Given the description of an element on the screen output the (x, y) to click on. 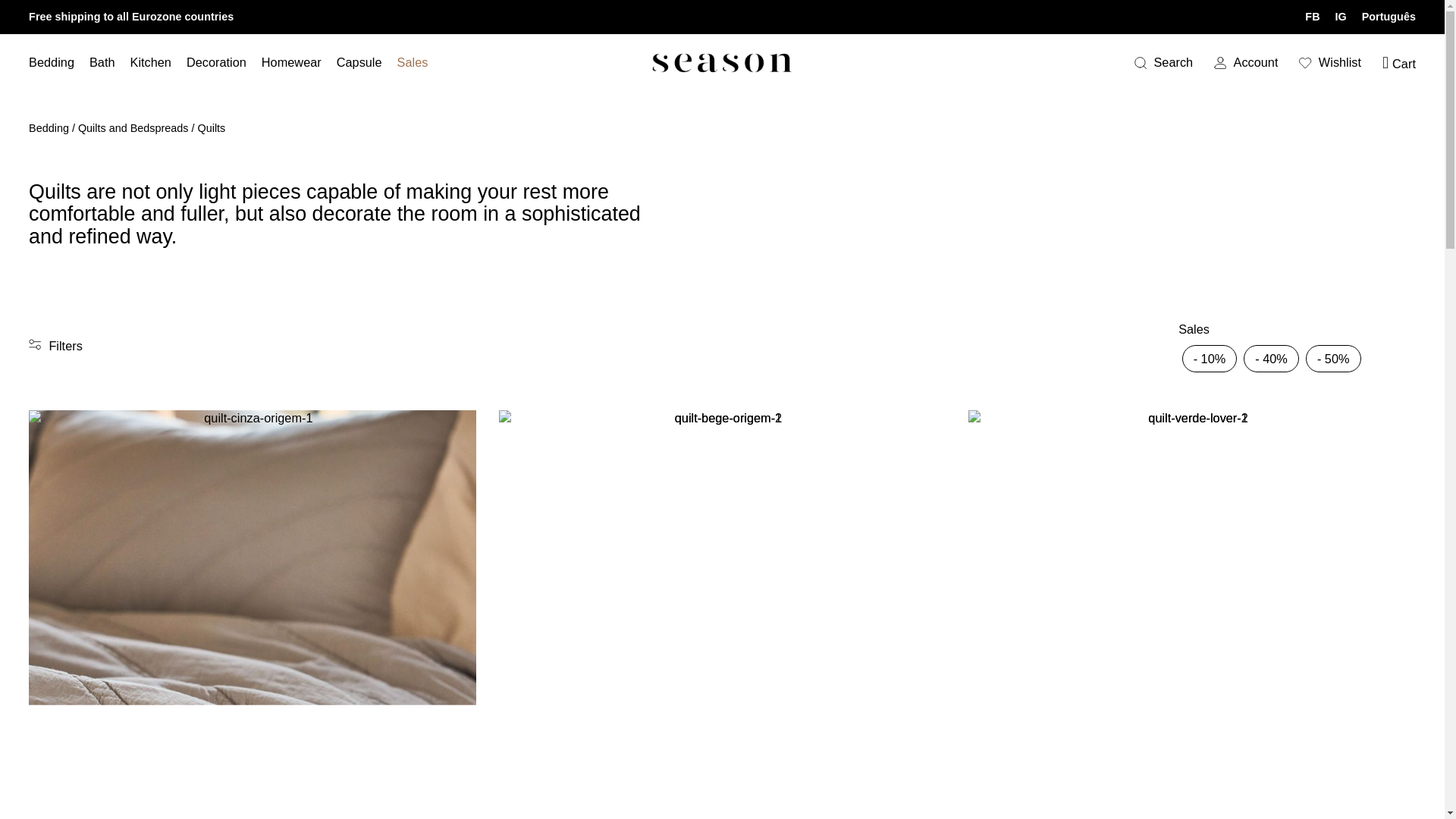
Decoration (216, 62)
Wishlist (1329, 62)
Kitchen (151, 62)
Search (1163, 62)
FB (1311, 16)
Capsule (358, 62)
Bath (101, 62)
